Given the description of an element on the screen output the (x, y) to click on. 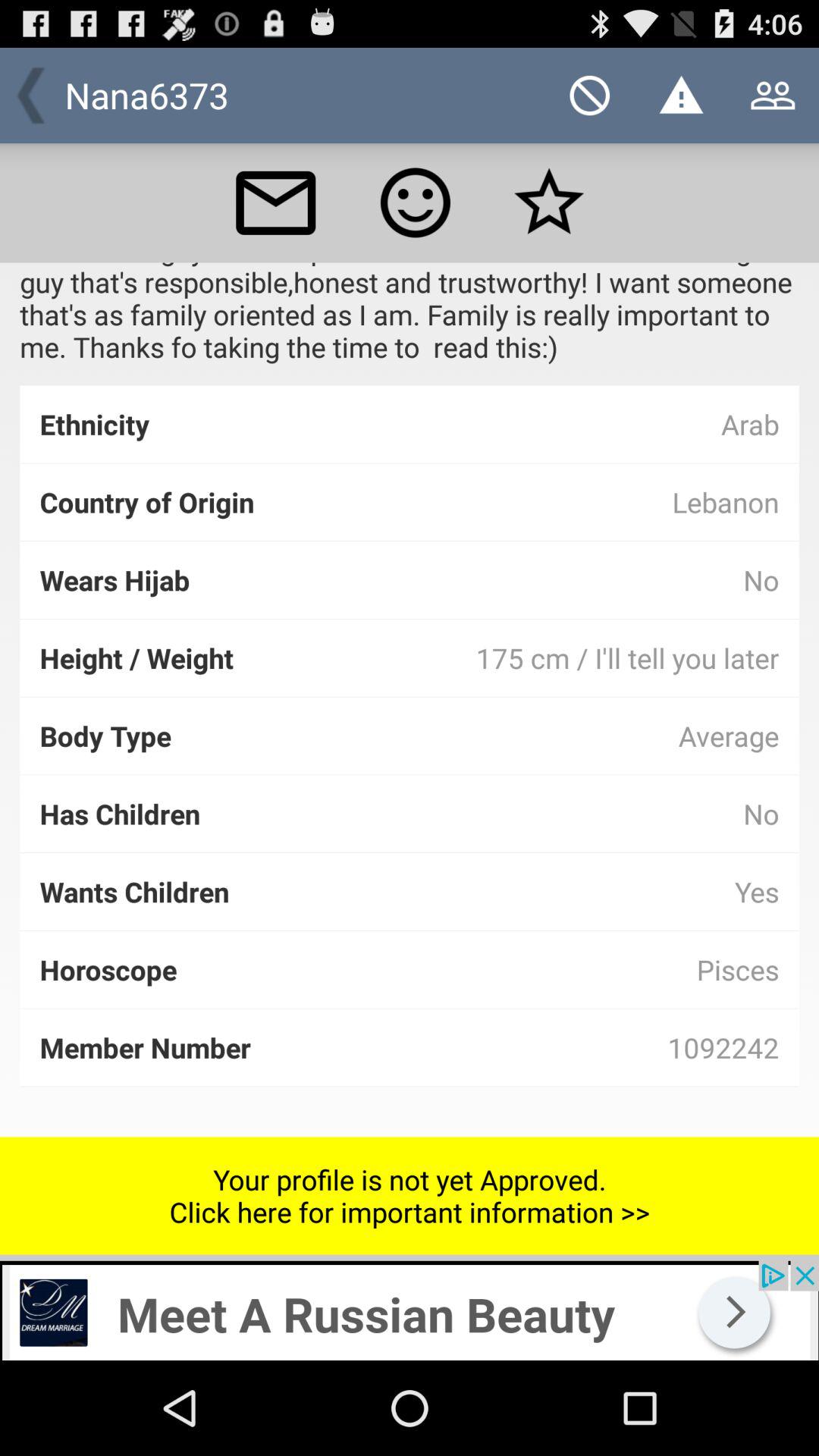
open the advertisement (409, 1310)
